Given the description of an element on the screen output the (x, y) to click on. 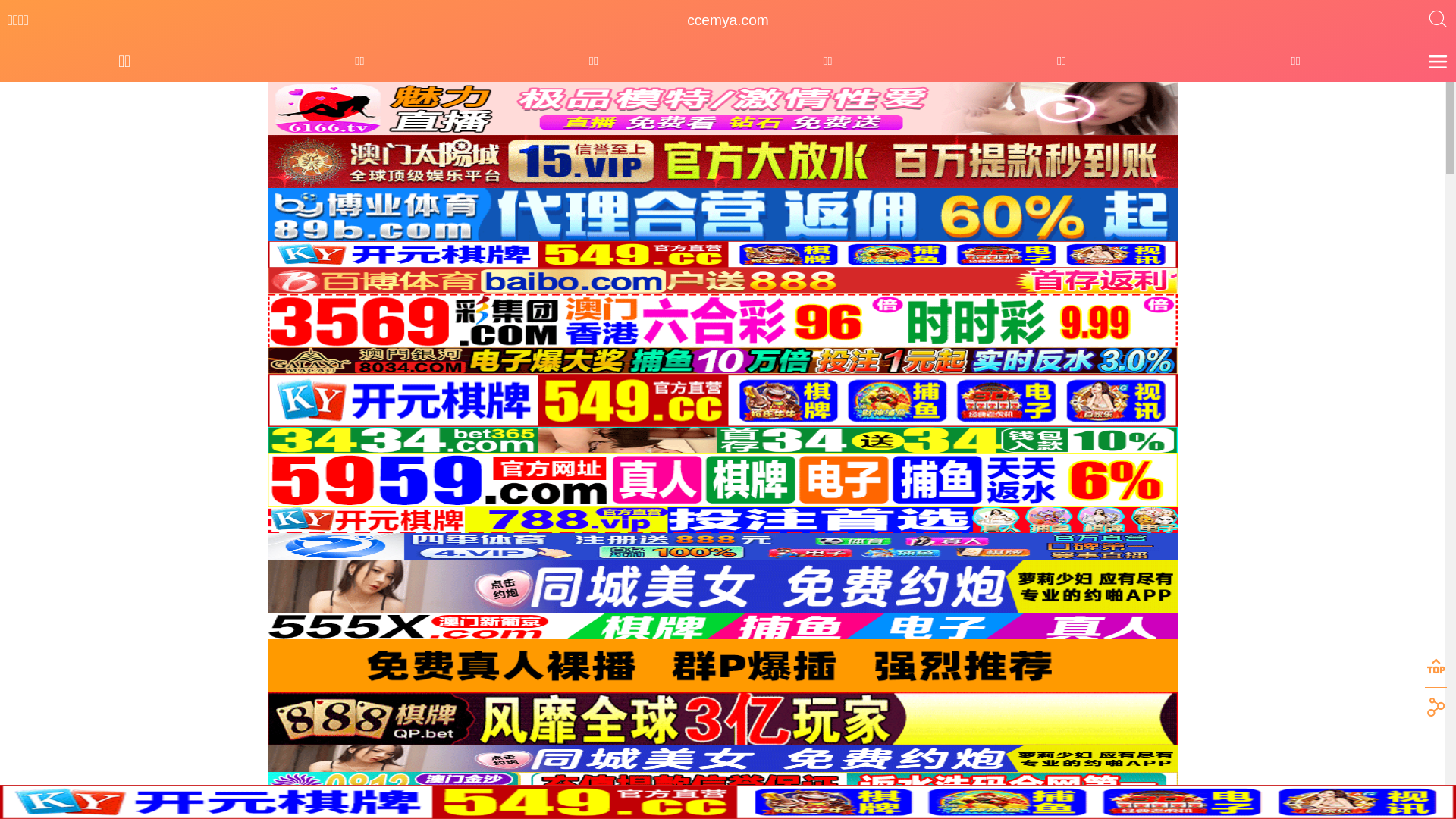
ccemya.com Element type: text (727, 20)
